Given the description of an element on the screen output the (x, y) to click on. 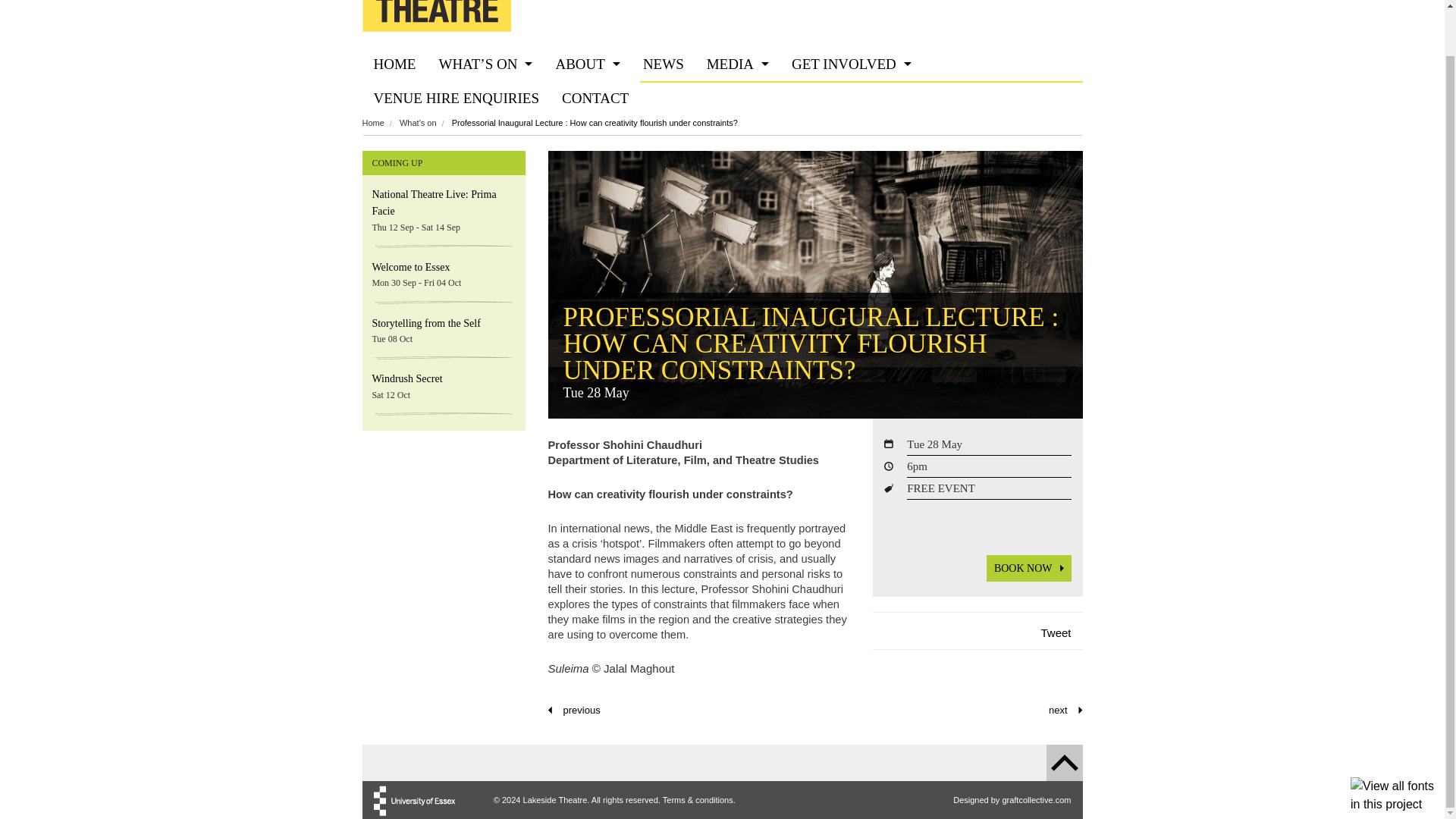
VENUE HIRE ENQUIRIES (456, 98)
ABOUT (586, 63)
APPLY FOR HOMEGROWN (851, 132)
VIDEOS (737, 132)
HOME (395, 63)
Re:Write (1065, 708)
LISTINGS (484, 98)
PHOTOS (737, 98)
CONTACT (595, 98)
The Pillowman (573, 708)
